Given the description of an element on the screen output the (x, y) to click on. 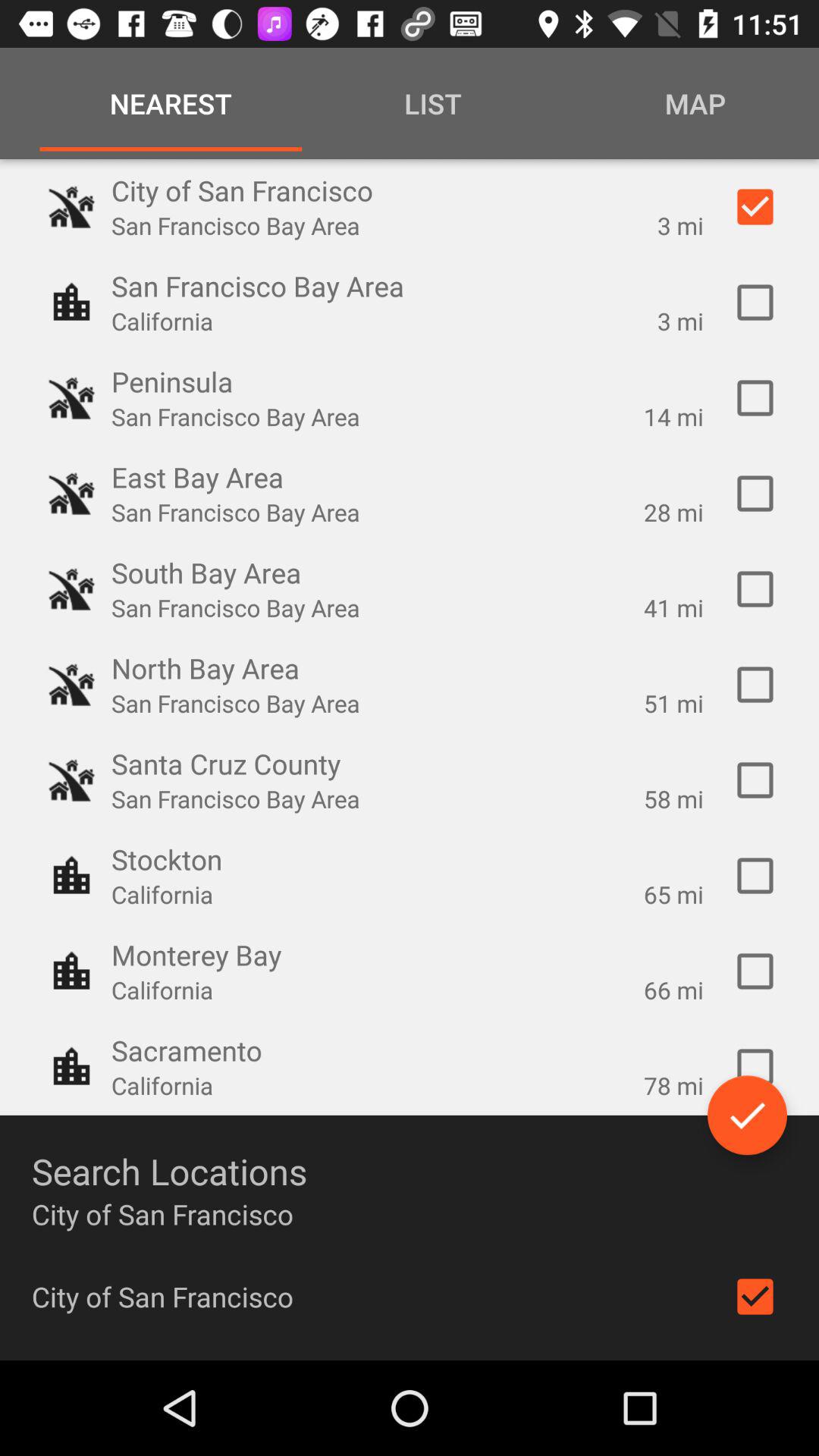
select san francisco bay area (755, 302)
